Given the description of an element on the screen output the (x, y) to click on. 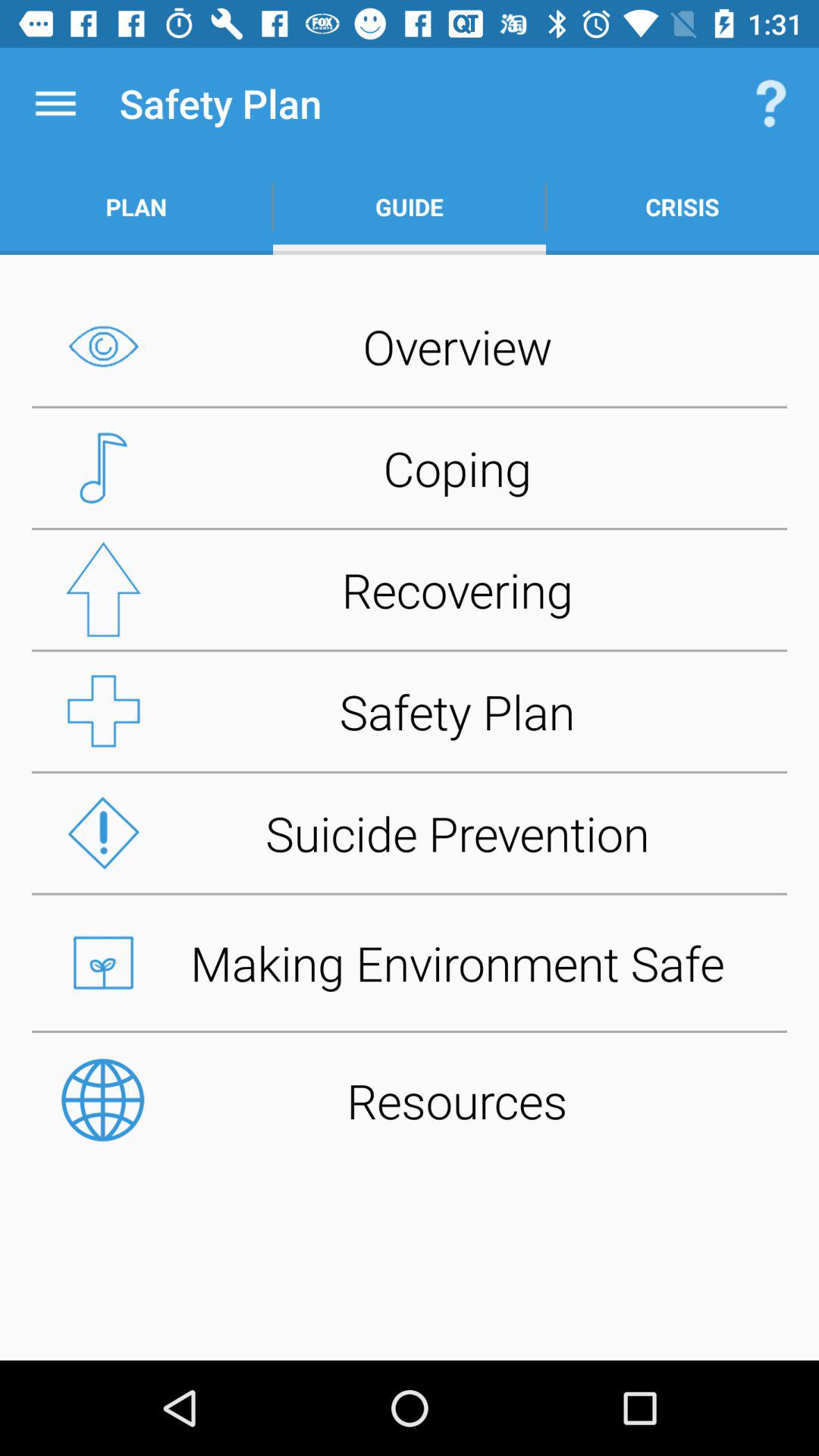
swipe until the making environment safe button (409, 962)
